Given the description of an element on the screen output the (x, y) to click on. 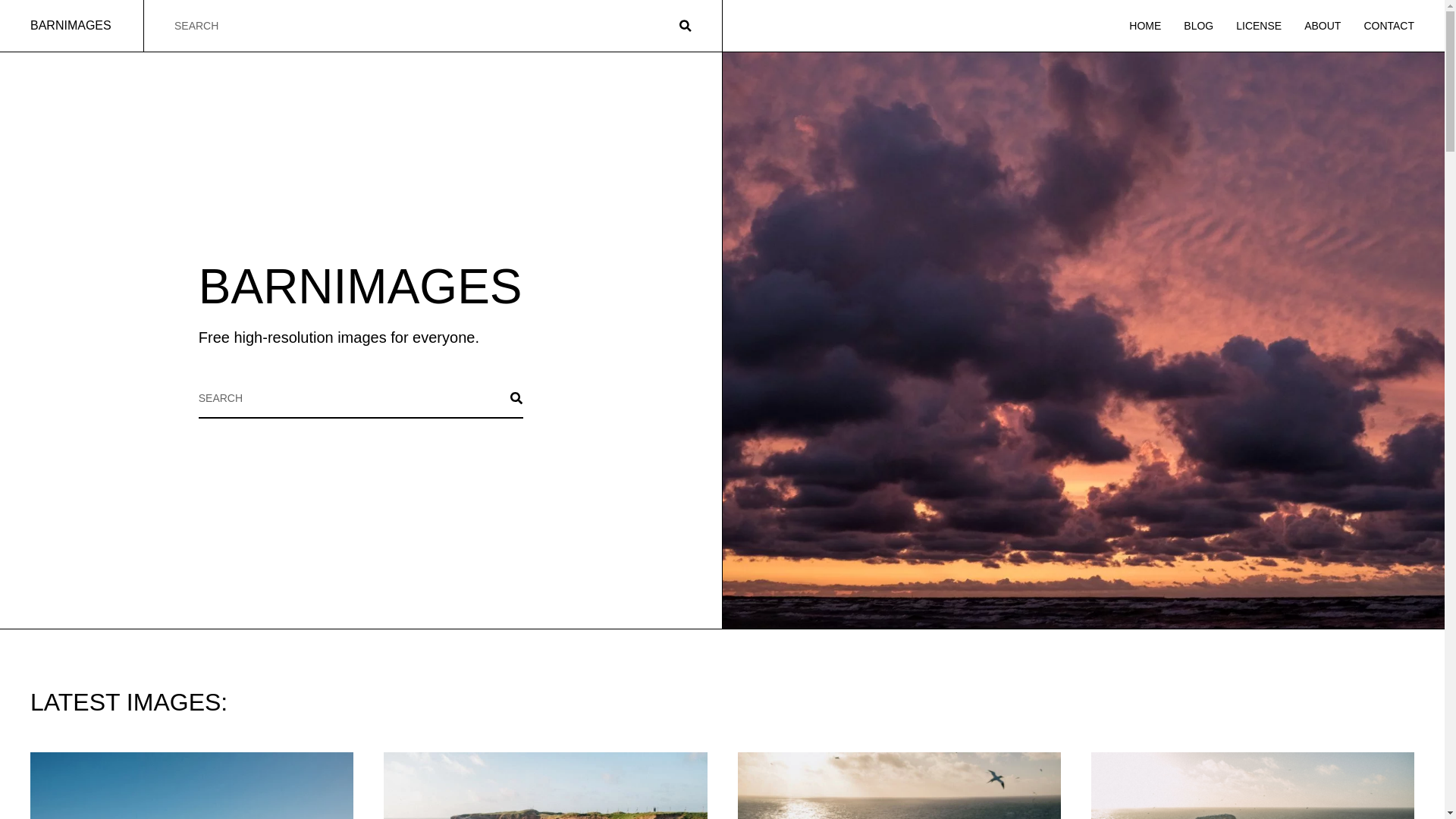
CONTACT (1387, 25)
ABOUT (1322, 25)
BARNIMAGES (71, 24)
LICENSE (1258, 25)
